Given the description of an element on the screen output the (x, y) to click on. 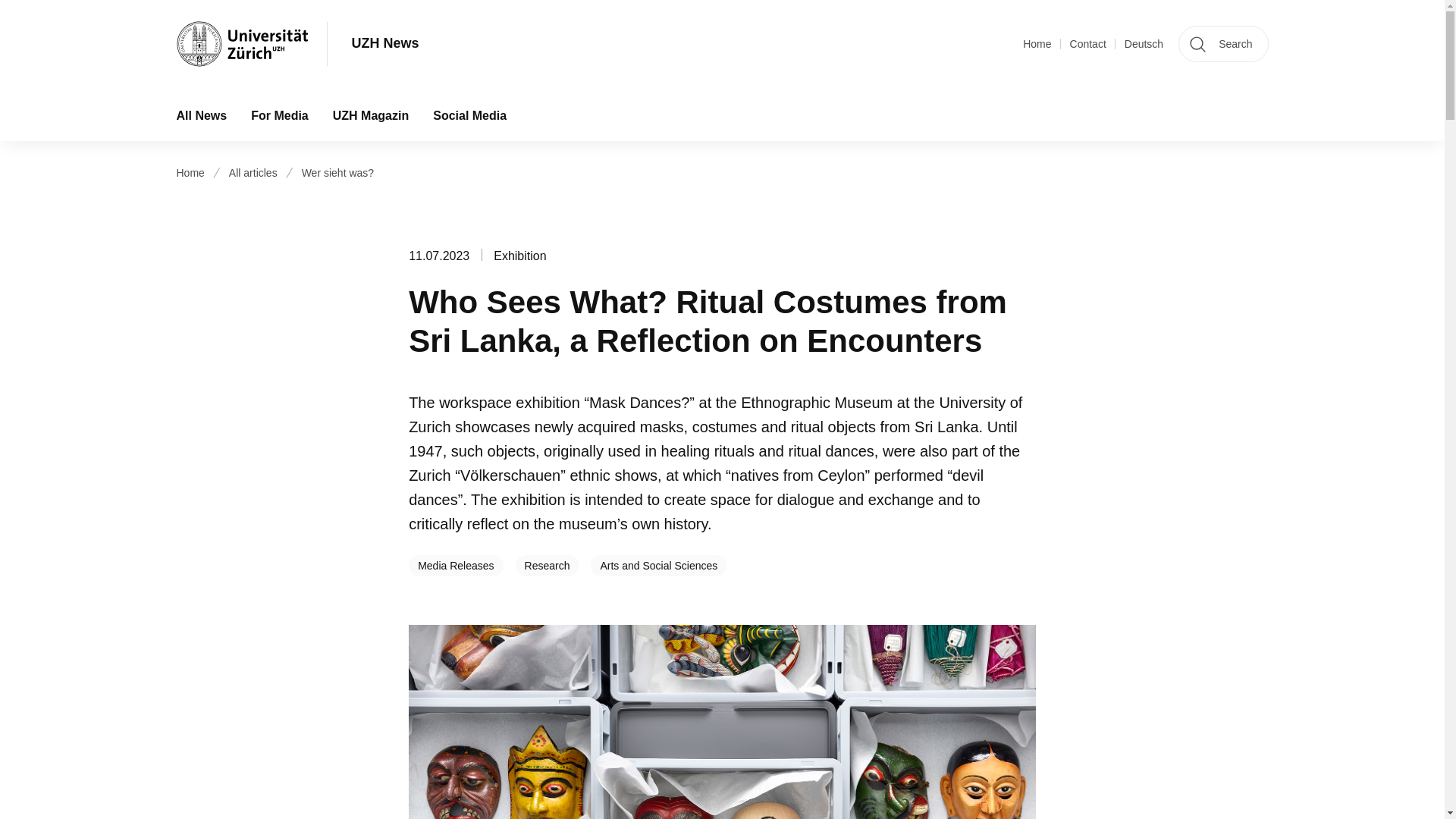
Search (1222, 43)
UZH News (385, 43)
Home (1037, 44)
Deutsch (1143, 44)
Contact (1088, 44)
All News (200, 115)
